Given the description of an element on the screen output the (x, y) to click on. 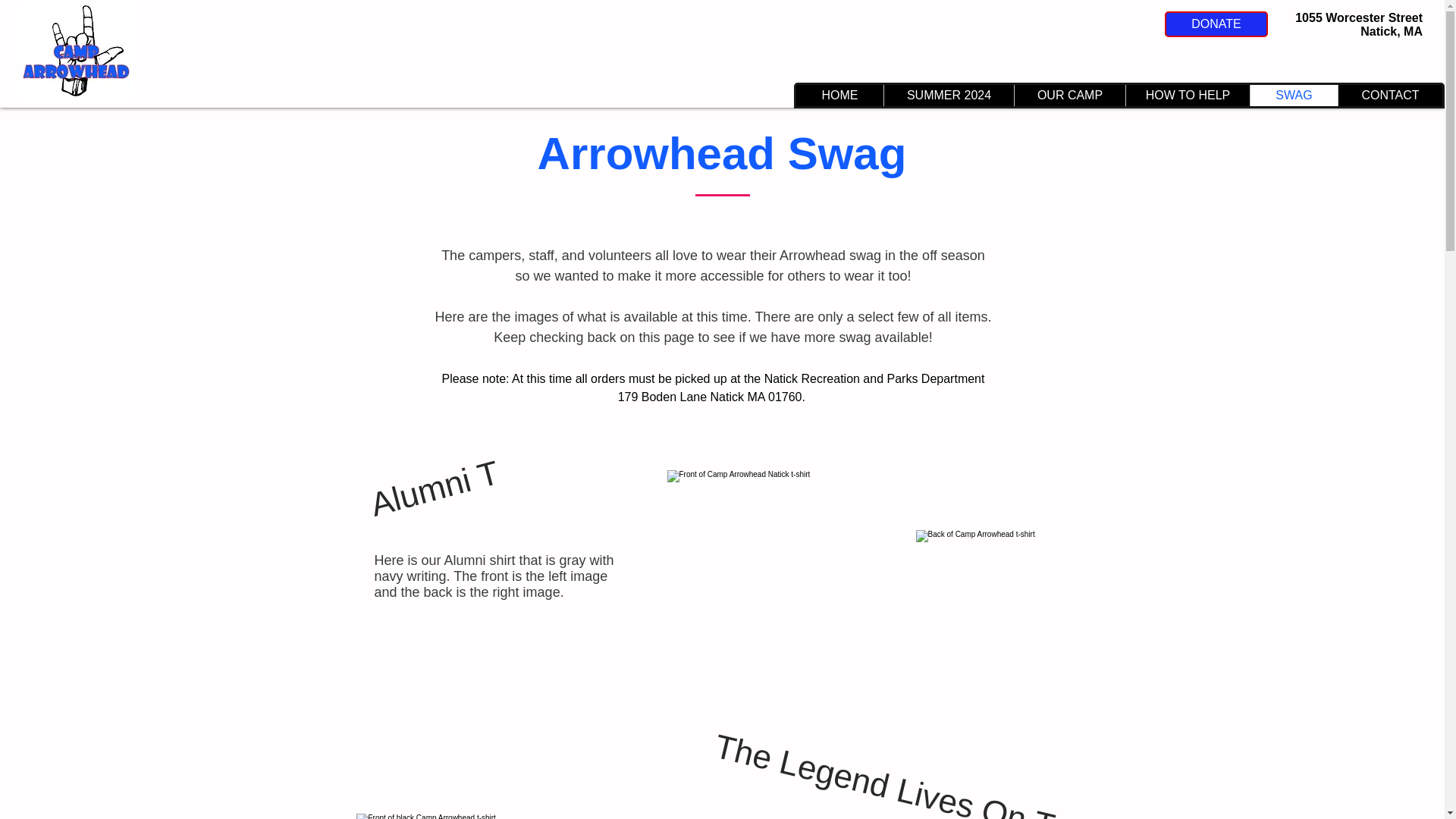
Front (777, 580)
HOME (839, 95)
Back (995, 590)
SWAG (1293, 95)
Front (484, 816)
DONATE (1216, 23)
OUR CAMP (1069, 95)
Camp Arrowhead (76, 50)
CONTACT (1390, 95)
